Given the description of an element on the screen output the (x, y) to click on. 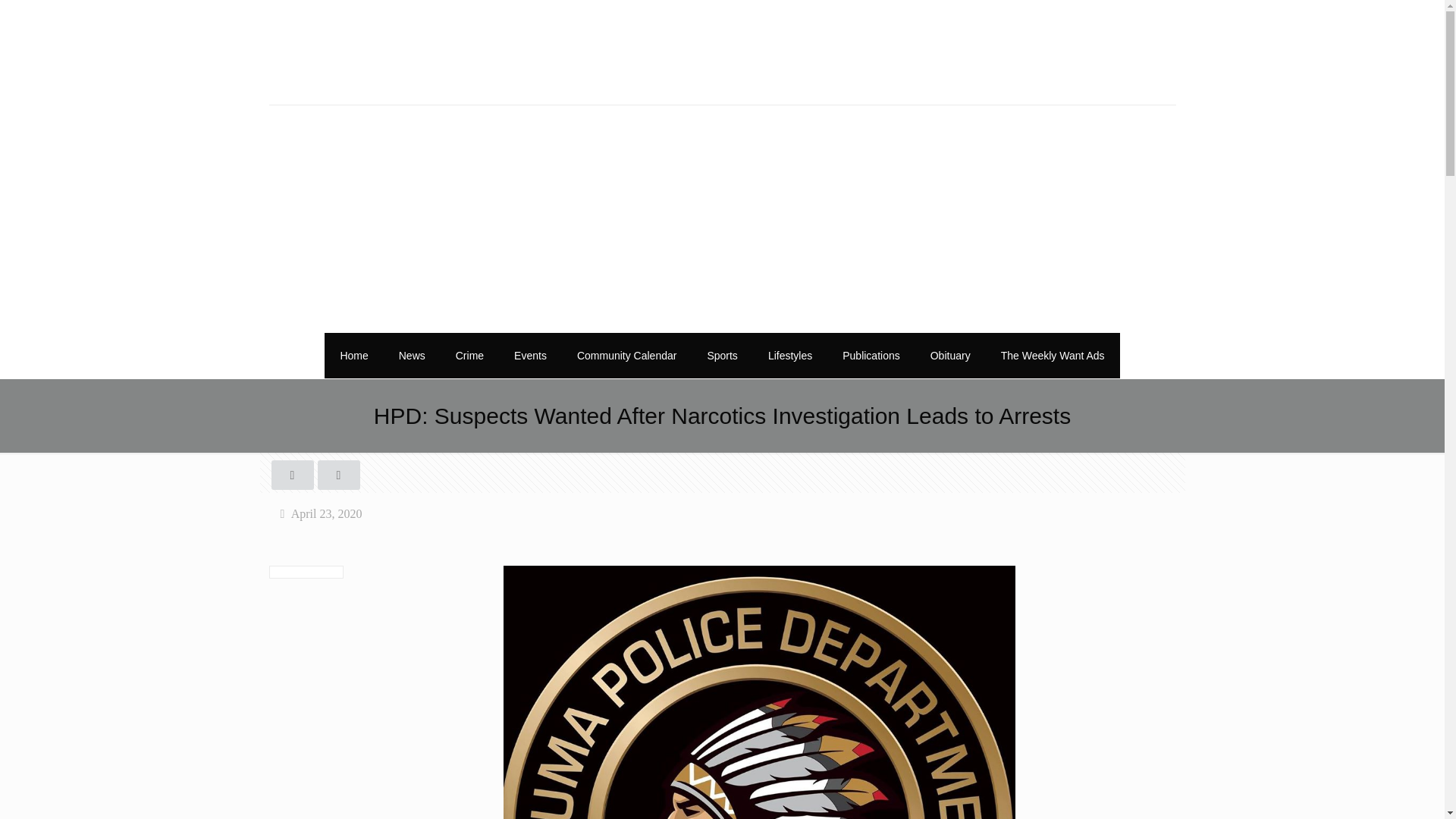
Lifestyles (789, 355)
Sports (721, 355)
The Weekly Want Ads (1052, 355)
Community Calendar (627, 355)
Events (530, 355)
Home (353, 355)
Obituary (950, 355)
Publications (871, 355)
Crime (470, 355)
News (412, 355)
